Given the description of an element on the screen output the (x, y) to click on. 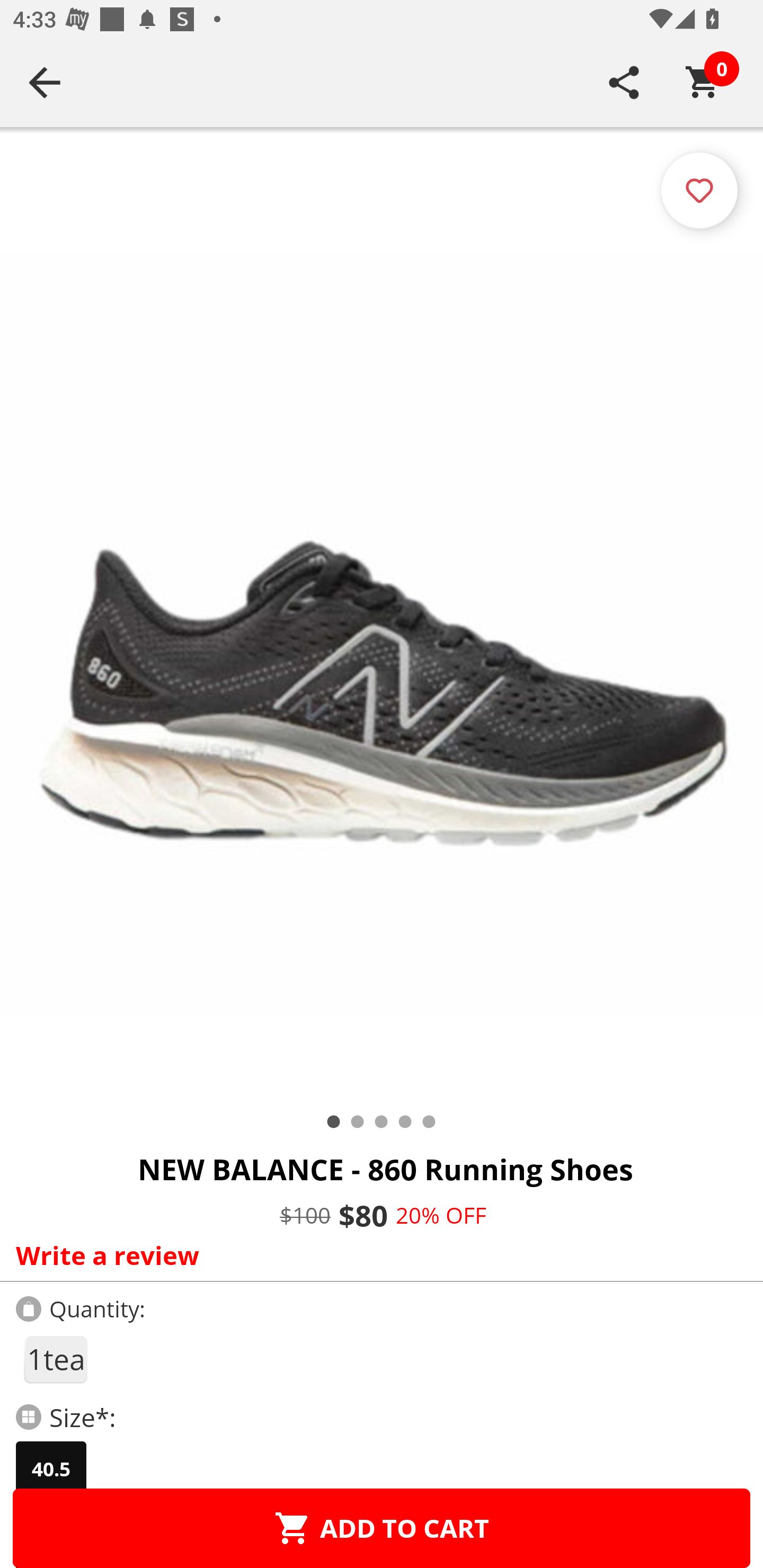
Navigate up (44, 82)
SHARE (623, 82)
Cart (703, 81)
Write a review (377, 1255)
1tea (55, 1358)
40.5 (51, 1468)
ADD TO CART (381, 1528)
